Given the description of an element on the screen output the (x, y) to click on. 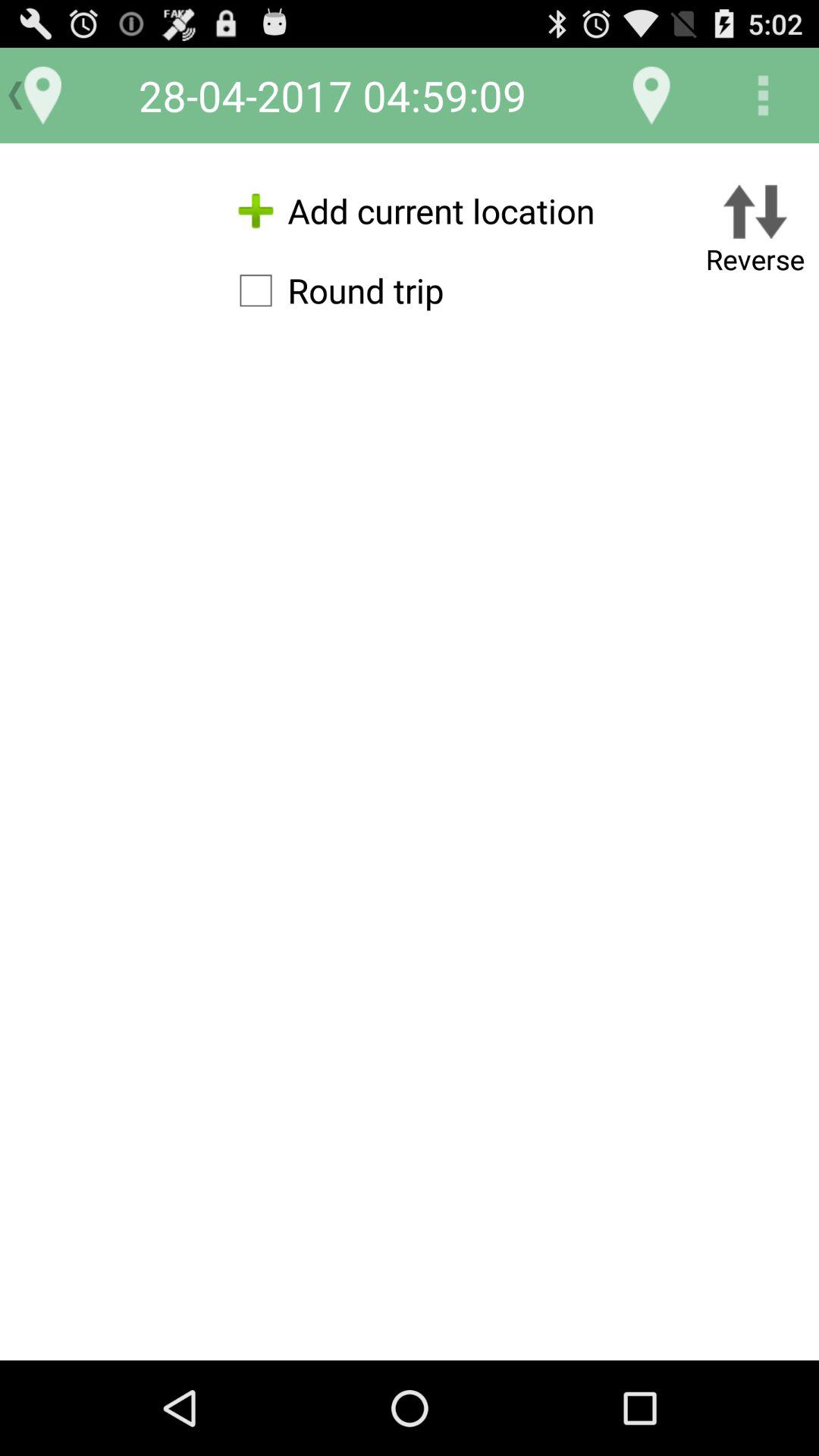
launch round trip (334, 290)
